Given the description of an element on the screen output the (x, y) to click on. 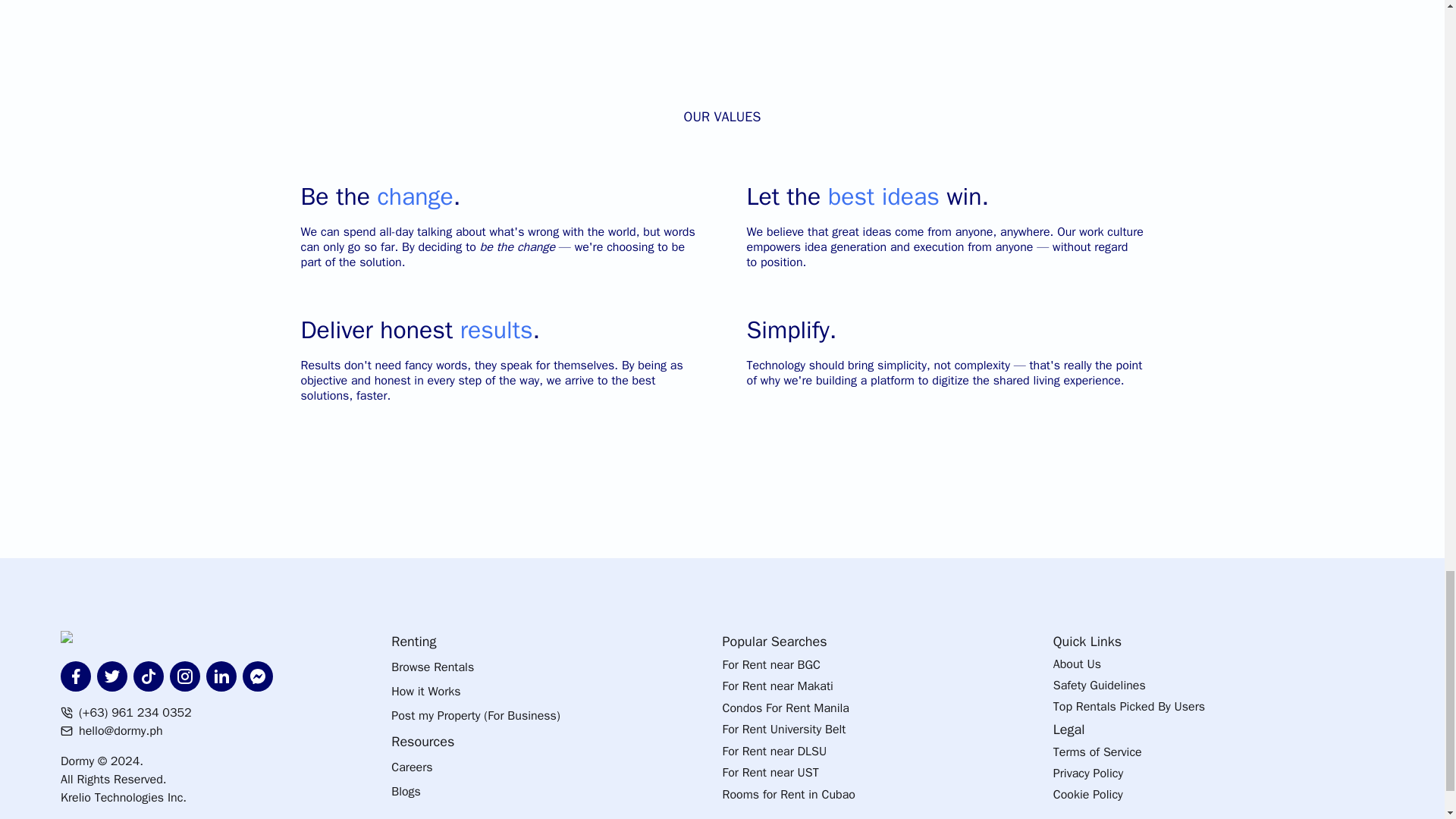
Condos For Rent Manila (887, 710)
Safety Guidelines (1218, 686)
For Rent near UST (887, 774)
Terms of Service (1218, 753)
For Rent near DLSU (887, 753)
For Rent near Makati (887, 688)
How it Works (556, 694)
For Rent near BGC (887, 667)
Rooms for Rent in Cubao (887, 796)
Privacy Policy (1218, 774)
